Given the description of an element on the screen output the (x, y) to click on. 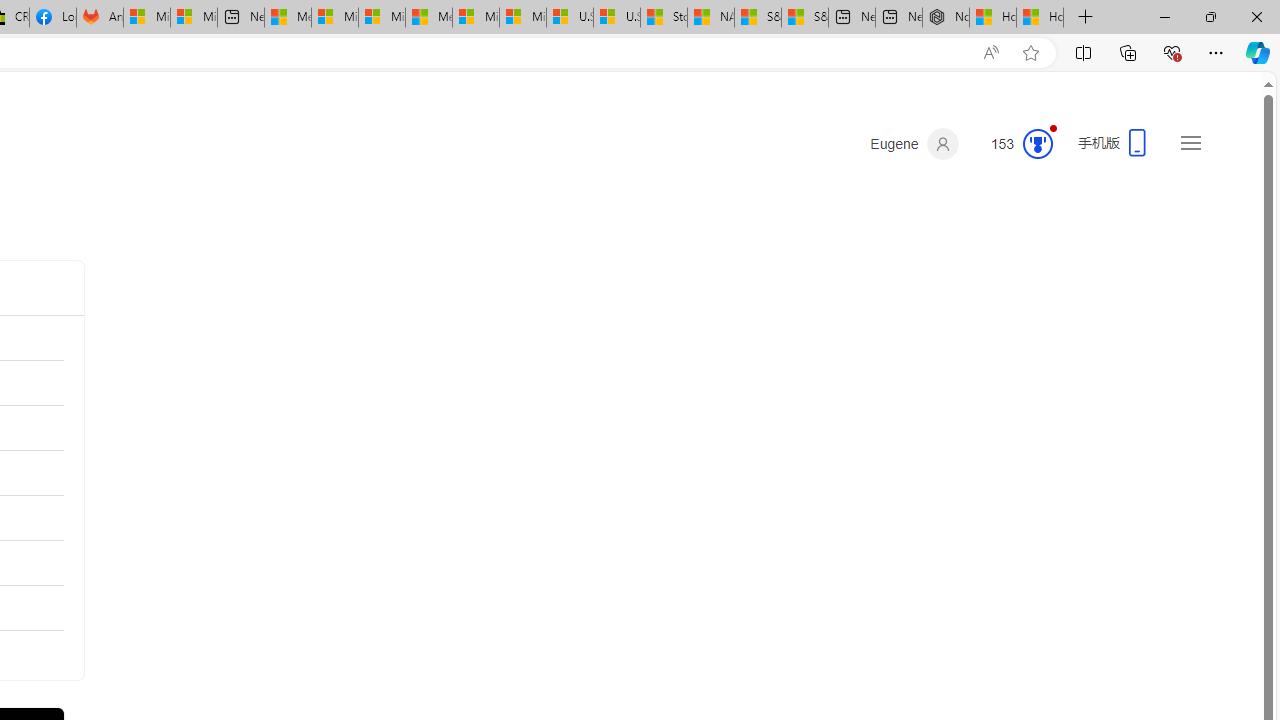
Microsoft Rewards 153 (1014, 143)
How to Use a Monitor With Your Closed Laptop (1040, 17)
S&P 500, Nasdaq end lower, weighed by Nvidia dip | Watch (805, 17)
